Given the description of an element on the screen output the (x, y) to click on. 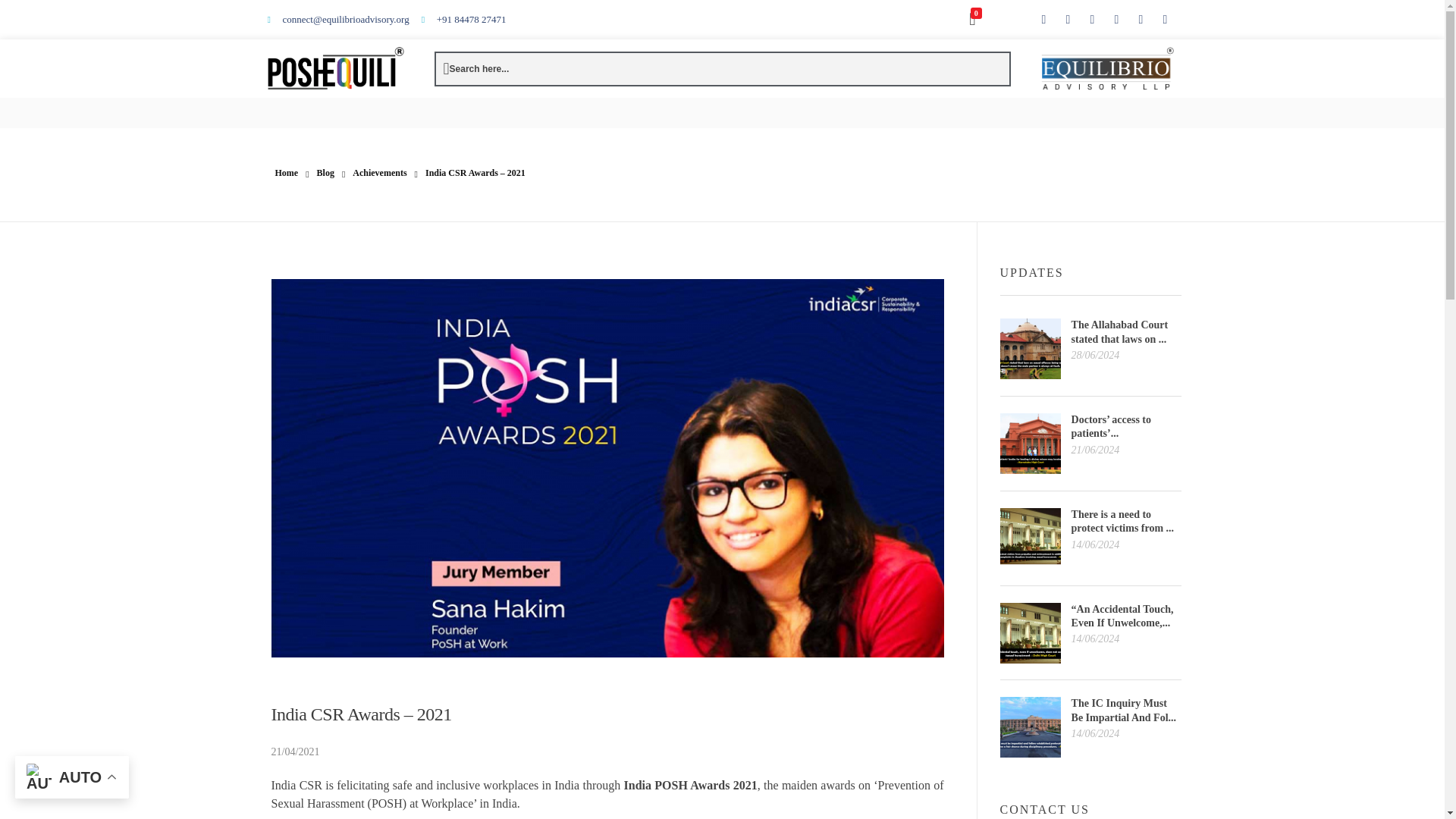
Search here... (475, 69)
Achievements (379, 172)
Blog (325, 172)
Home (286, 172)
